Given the description of an element on the screen output the (x, y) to click on. 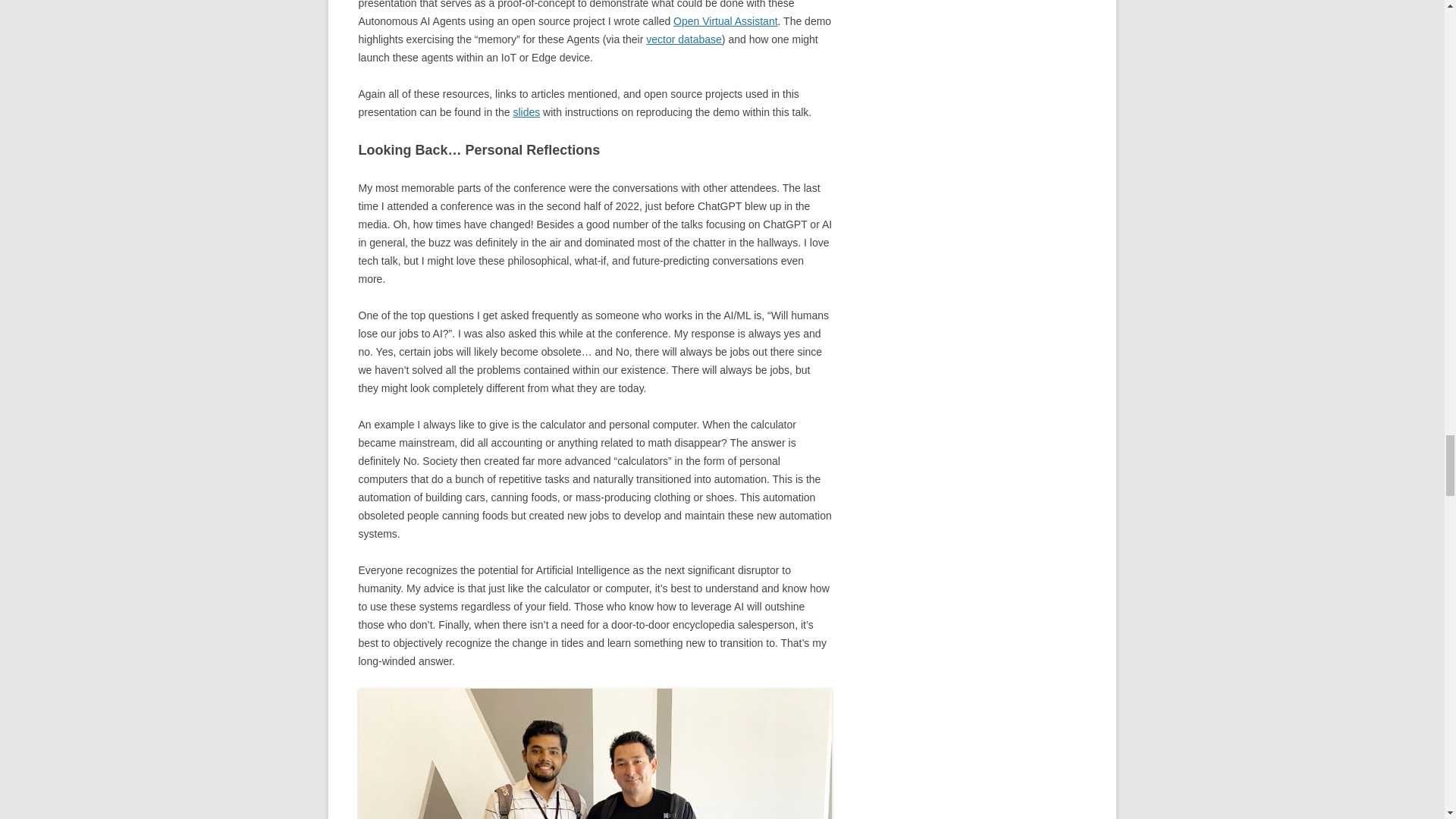
vector database (684, 39)
Open Virtual Assistant (724, 21)
slides (526, 111)
